Given the description of an element on the screen output the (x, y) to click on. 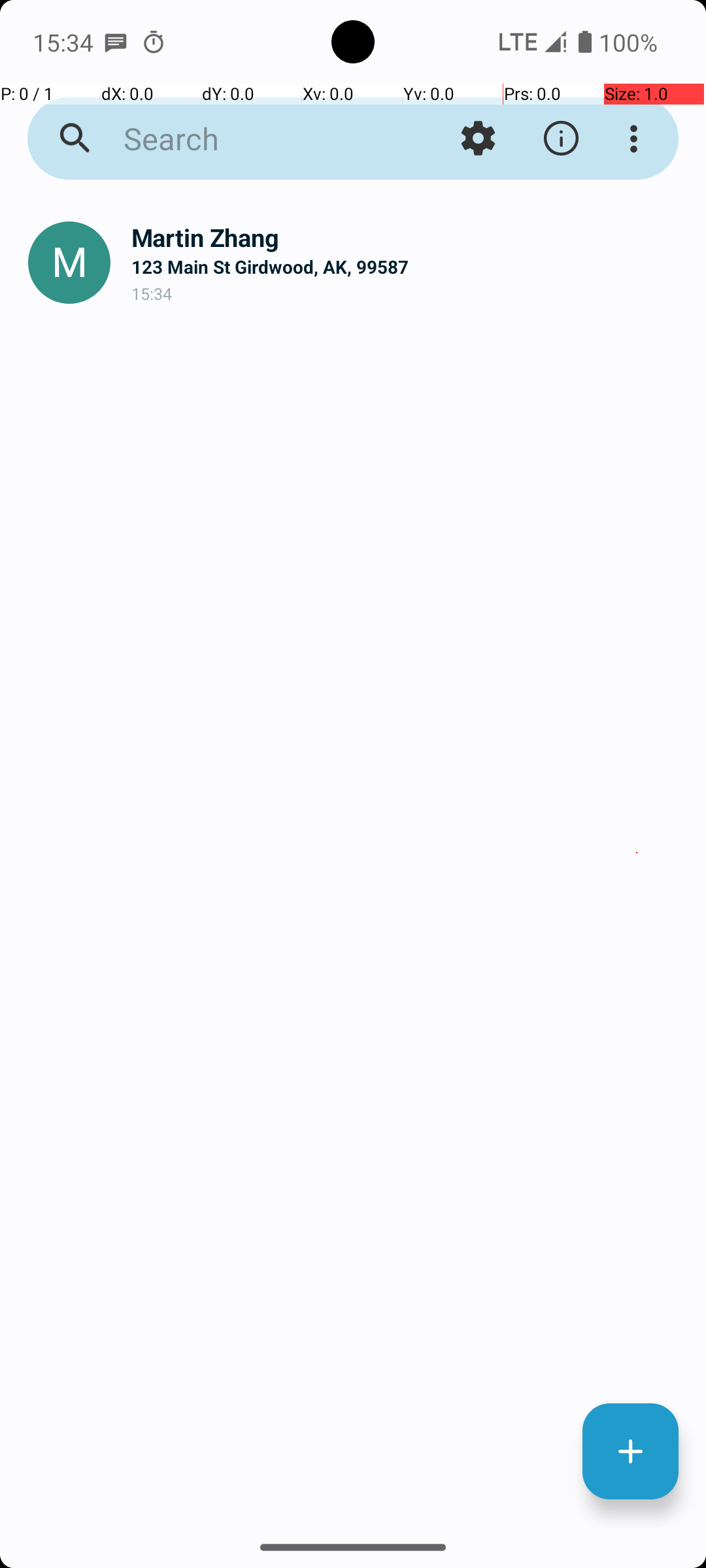
Martin Zhang Element type: android.widget.TextView (408, 237)
123 Main St Girdwood, AK, 99587 Element type: android.widget.TextView (408, 266)
SMS Messenger notification: Martin Zhang Element type: android.widget.ImageView (115, 41)
